Given the description of an element on the screen output the (x, y) to click on. 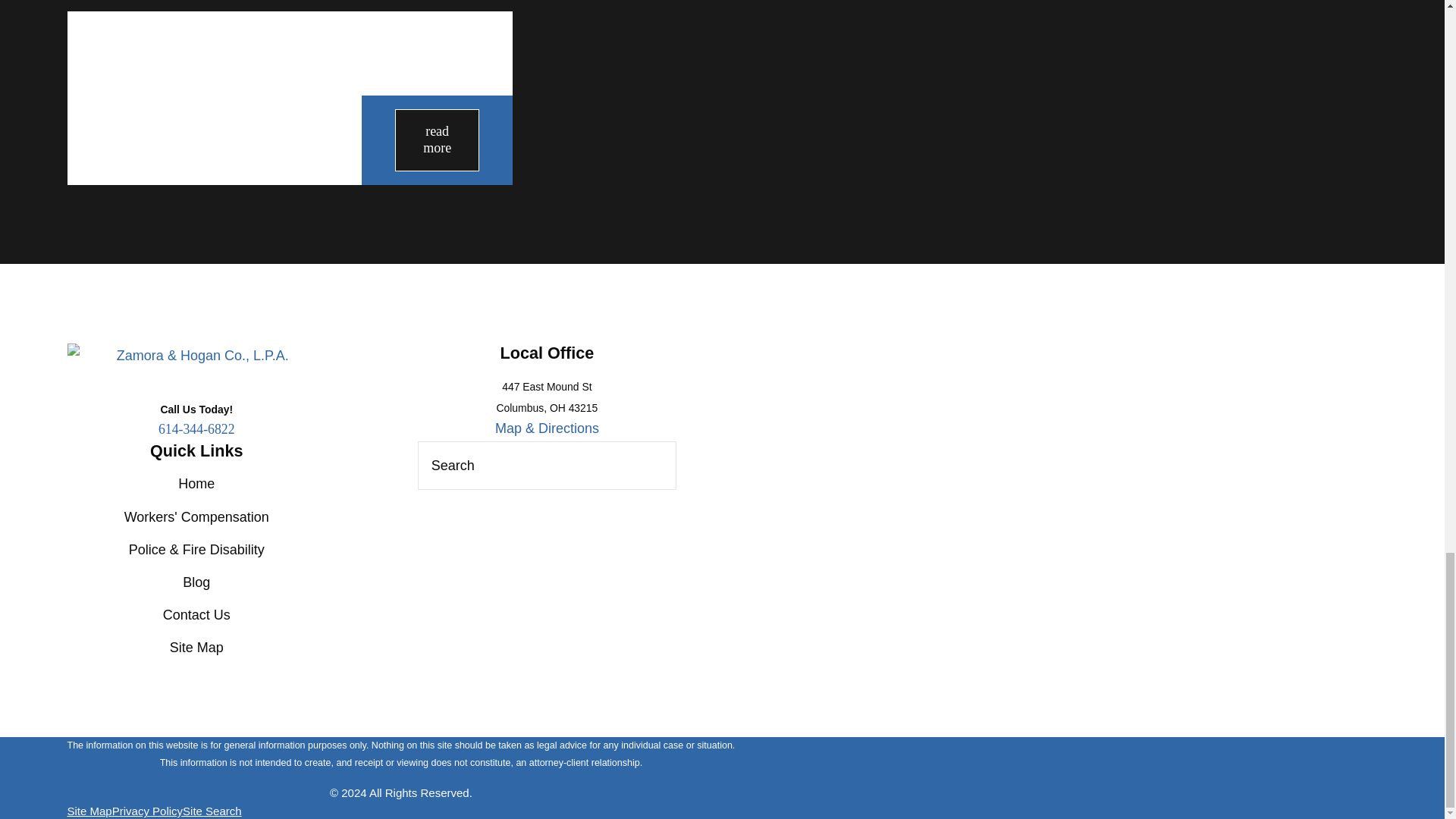
Home (196, 355)
Search Our Site (655, 465)
